Given the description of an element on the screen output the (x, y) to click on. 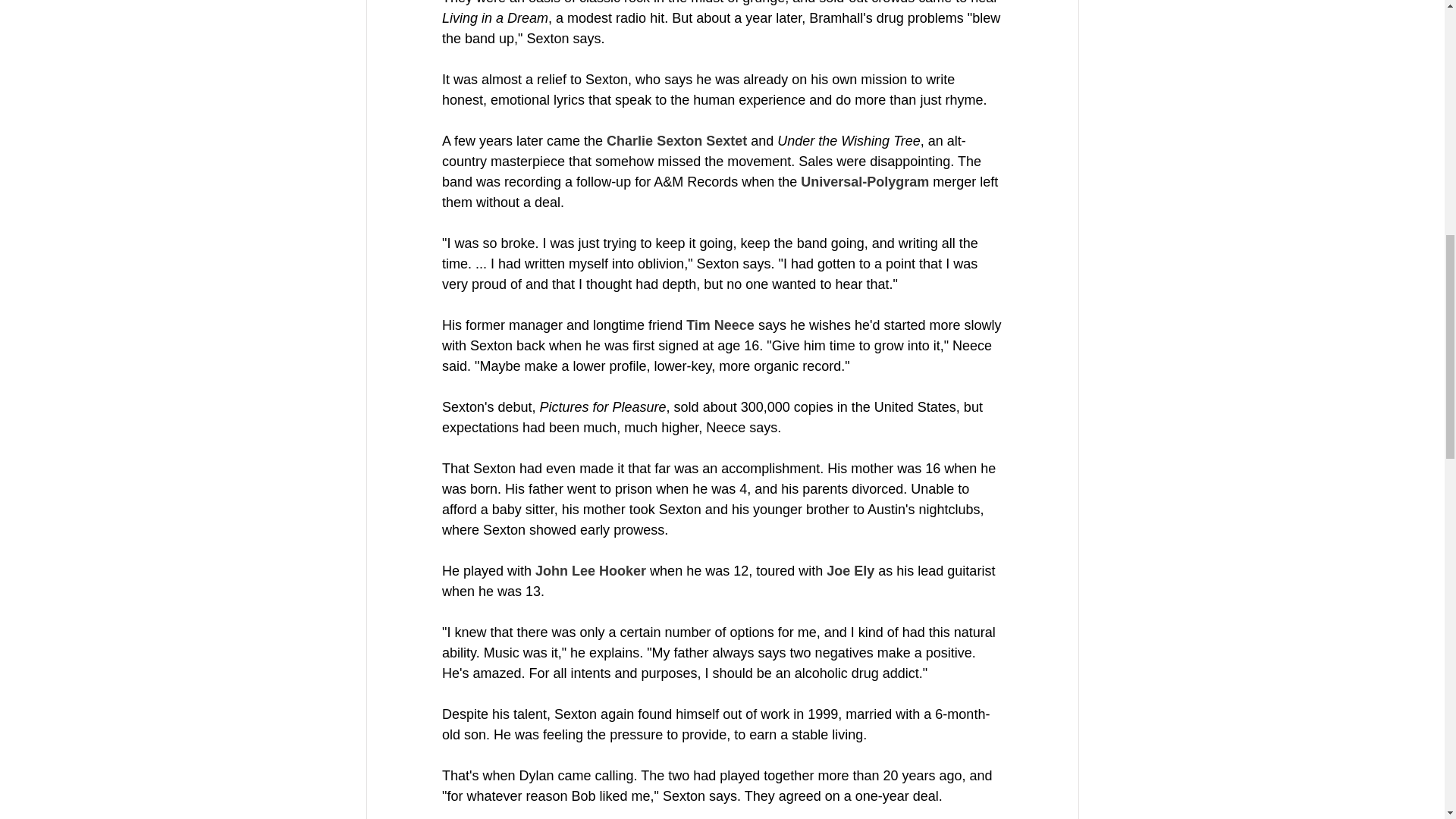
Tim Neece (719, 324)
Universal-Polygram (864, 181)
Joe Ely (851, 570)
Charlie Sexton Sextet (676, 140)
John Lee Hooker (590, 570)
